Given the description of an element on the screen output the (x, y) to click on. 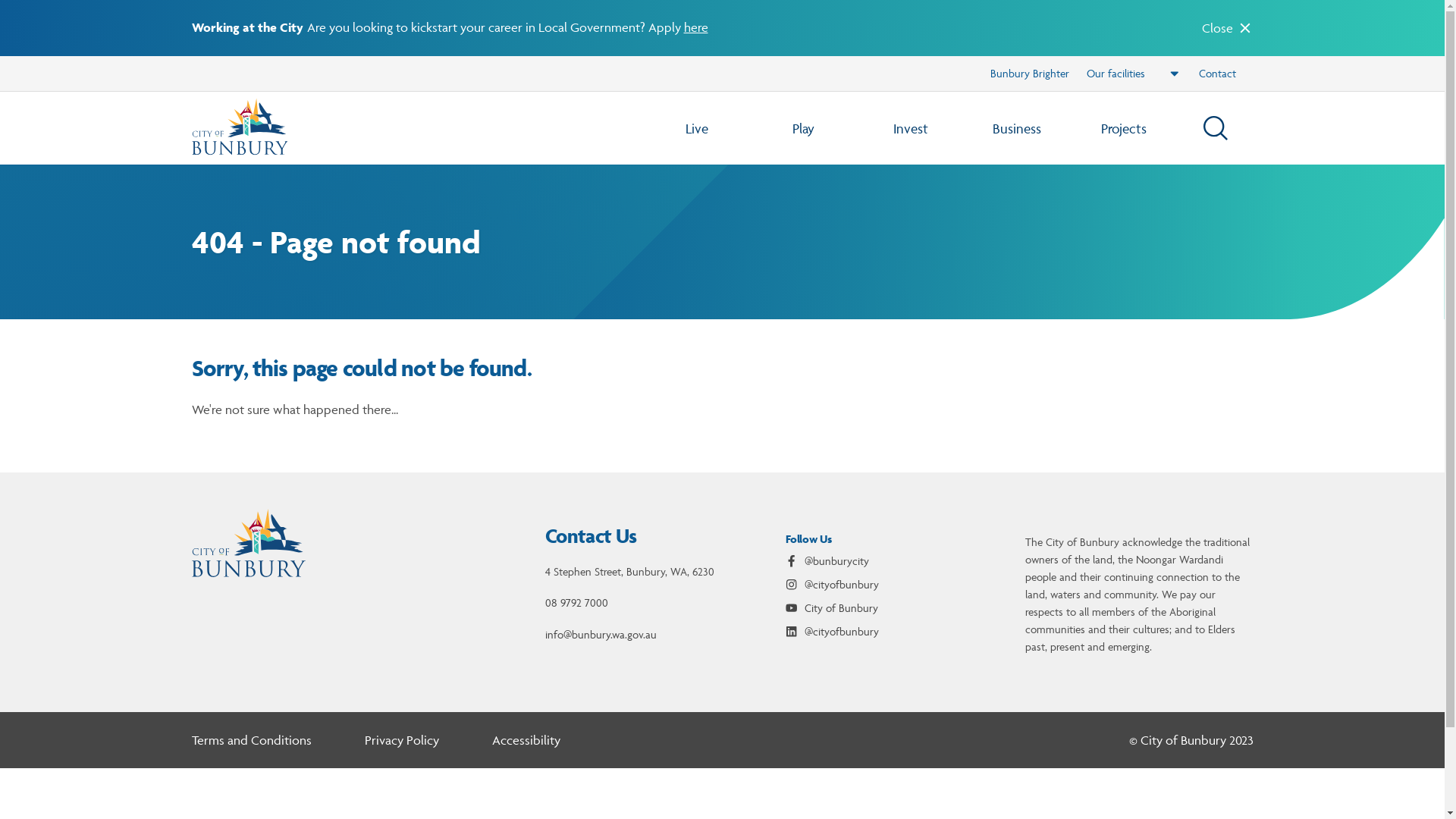
@cityofbunbury Element type: text (831, 634)
Projects Element type: text (1123, 127)
Close Element type: text (1226, 27)
Live Element type: text (696, 127)
Invest Element type: text (909, 127)
Terms and Conditions Element type: text (250, 743)
Play Element type: text (802, 127)
Skip to main content Element type: text (721, 16)
here Element type: text (696, 26)
Privacy Policy Element type: text (401, 743)
08 9792 7000 Element type: text (576, 605)
@cityofbunbury Element type: text (831, 587)
Contact Element type: text (1217, 73)
Accessibility Element type: text (526, 743)
City of Bunbury Element type: text (831, 610)
Bunbury Brighter Element type: text (1028, 73)
info@bunbury.wa.gov.au Element type: text (600, 636)
Business Element type: text (1016, 127)
@bunburycity Element type: text (827, 563)
